Given the description of an element on the screen output the (x, y) to click on. 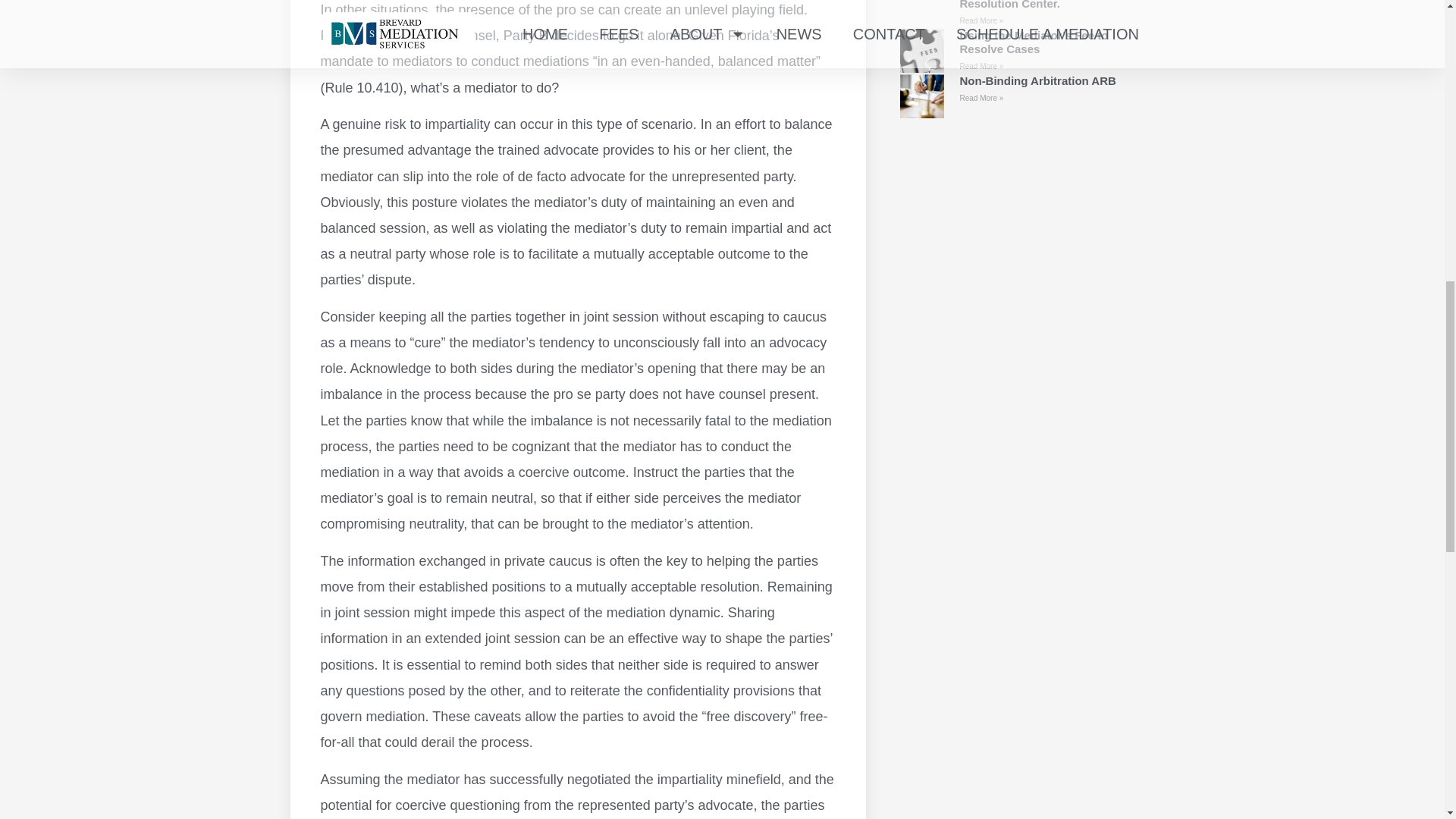
Non-Binding Arbitration ARB (1037, 80)
